Given the description of an element on the screen output the (x, y) to click on. 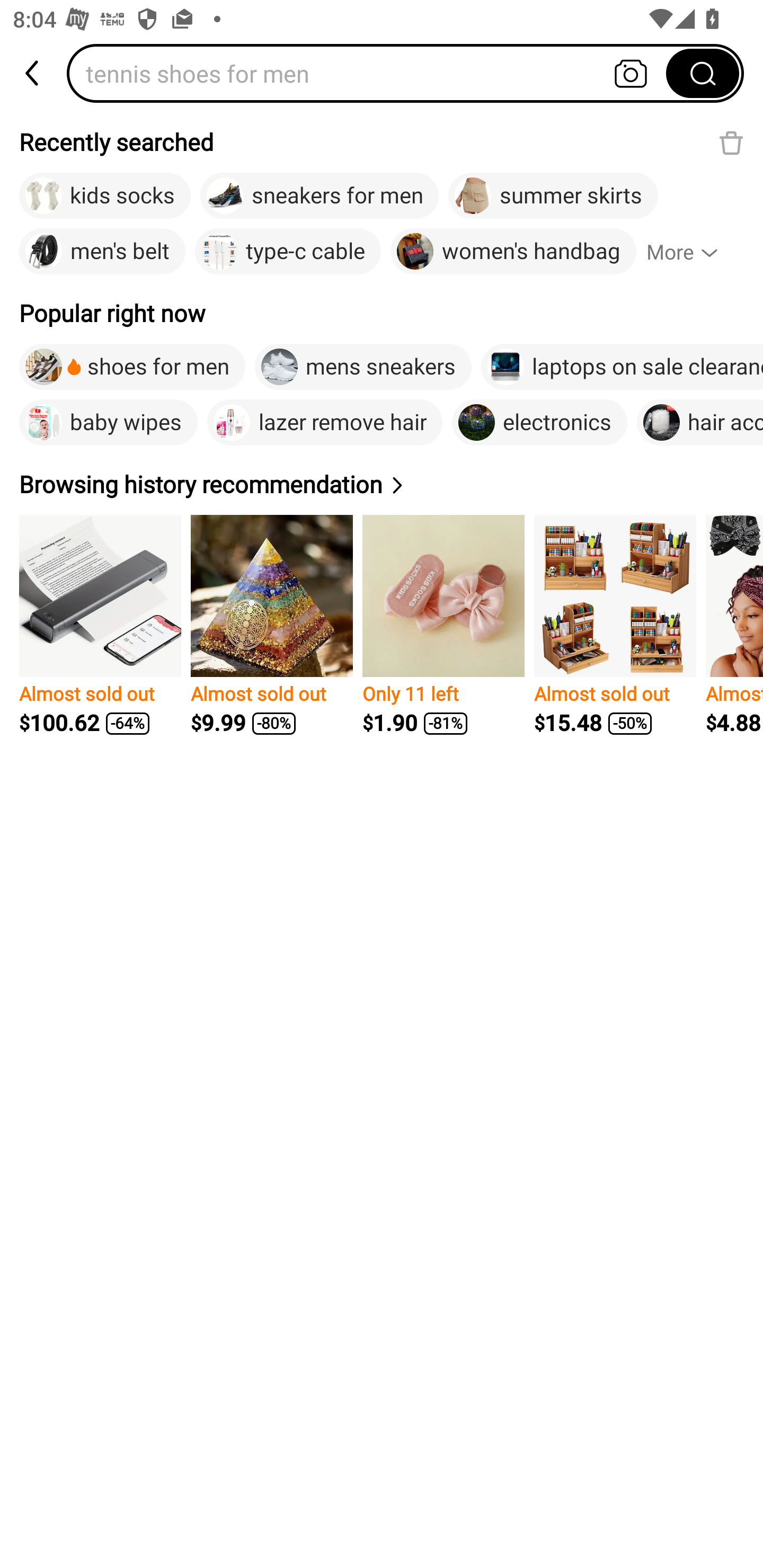
back (33, 72)
tennis shoes for men (372, 73)
Search by photo (630, 73)
Delete recent search (731, 142)
kids socks (104, 195)
sneakers for men (318, 195)
summer skirts (552, 195)
men's belt (102, 251)
type-c cable (287, 251)
women's handbag (513, 251)
More (690, 251)
shoes for men (132, 366)
mens sneakers (362, 366)
laptops on sale clearance (622, 366)
baby wipes (108, 422)
lazer remove hair (324, 422)
electronics (539, 422)
hair accessories (700, 422)
Browsing history recommendation (213, 484)
Almost sold out $100.62 -64% (100, 625)
Almost sold out $9.99 -80% (271, 625)
Only 11 left $1.90 -81% (443, 625)
Almost sold out $15.48 -50% (614, 625)
